Given the description of an element on the screen output the (x, y) to click on. 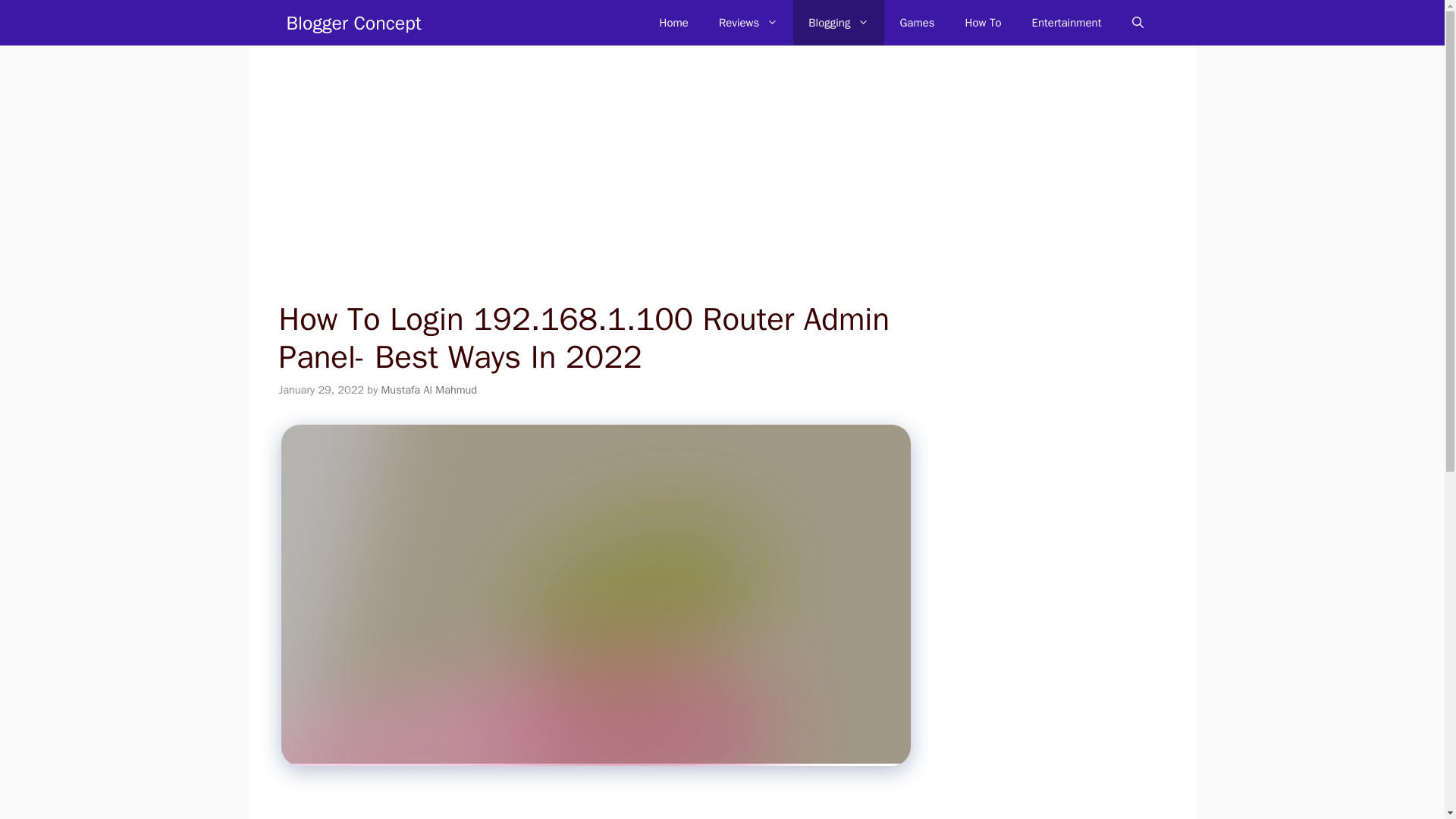
Advertisement (587, 805)
Mustafa Al Mahmud (429, 389)
Reviews (748, 22)
How To (983, 22)
Home (674, 22)
Games (916, 22)
Blogger Concept (354, 22)
Advertisement (587, 187)
Blogging (838, 22)
Entertainment (1066, 22)
View all posts by Mustafa Al Mahmud (429, 389)
